Given the description of an element on the screen output the (x, y) to click on. 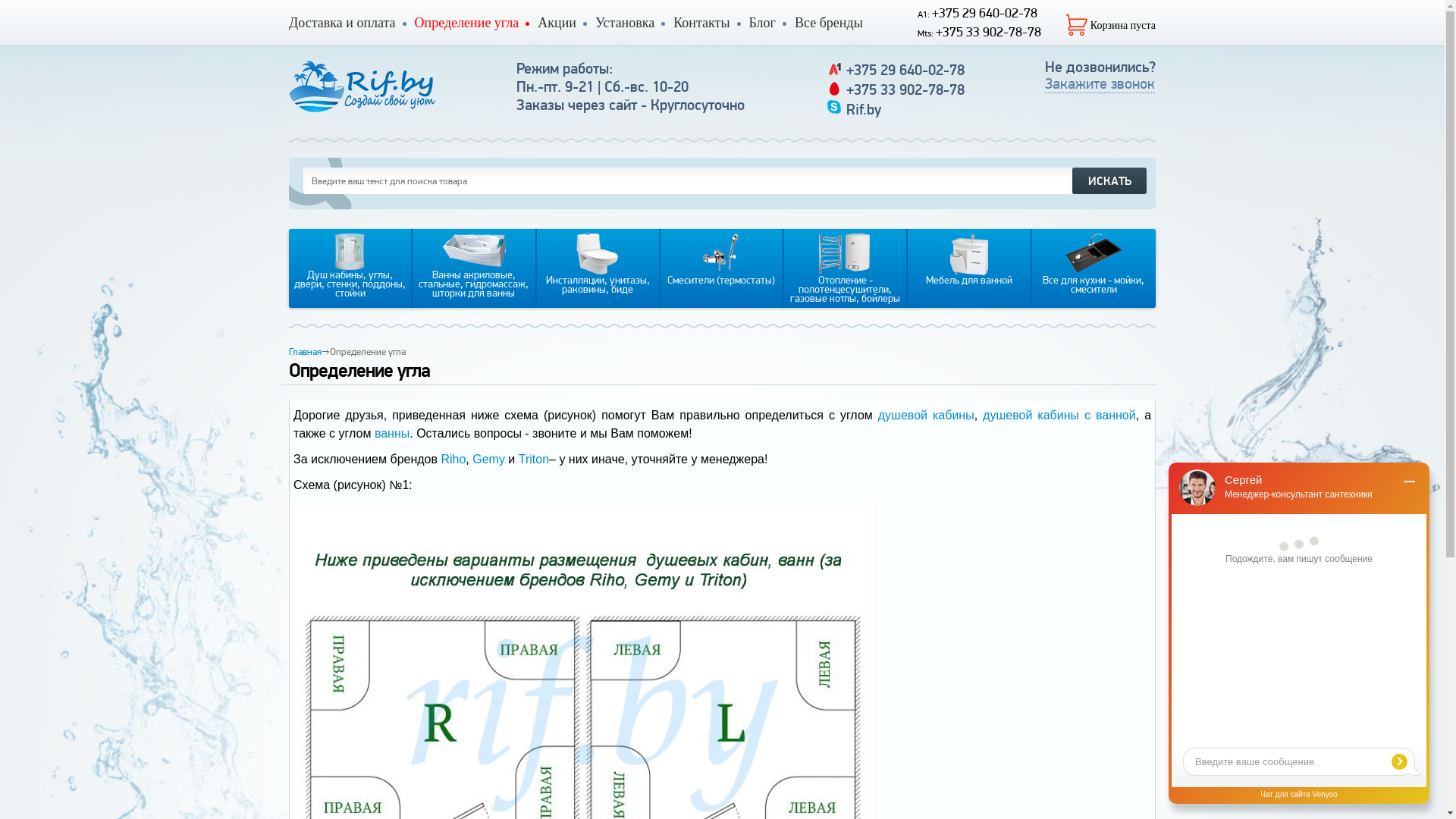
Rif.by Element type: text (863, 109)
+375 33 902-78-78 Element type: text (905, 89)
Gemy Element type: text (488, 458)
+375 29 640-02-78 Element type: text (905, 69)
Triton Element type: text (533, 458)
Riho Element type: text (452, 458)
